Given the description of an element on the screen output the (x, y) to click on. 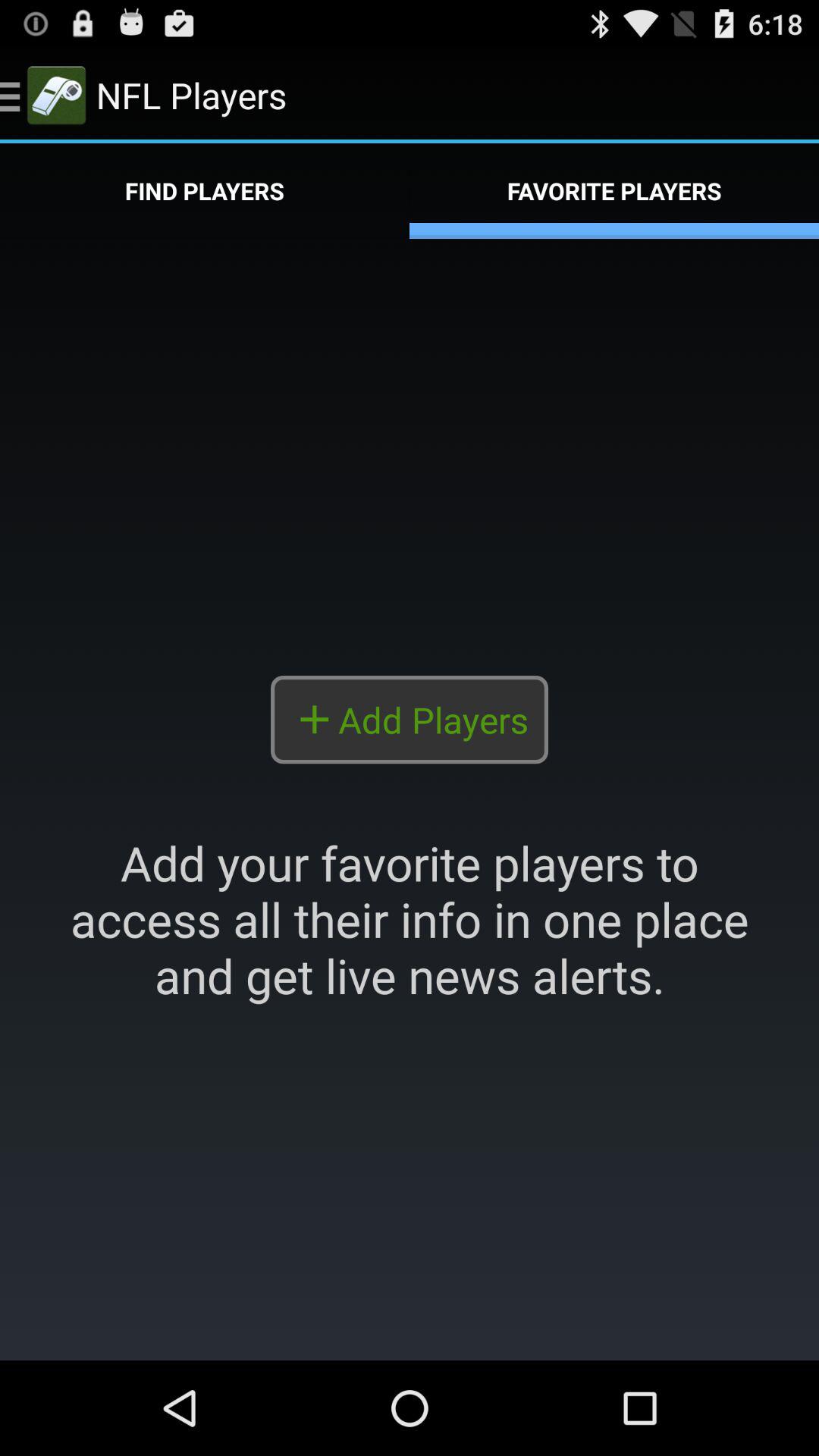
select the icon below the find players app (409, 799)
